Given the description of an element on the screen output the (x, y) to click on. 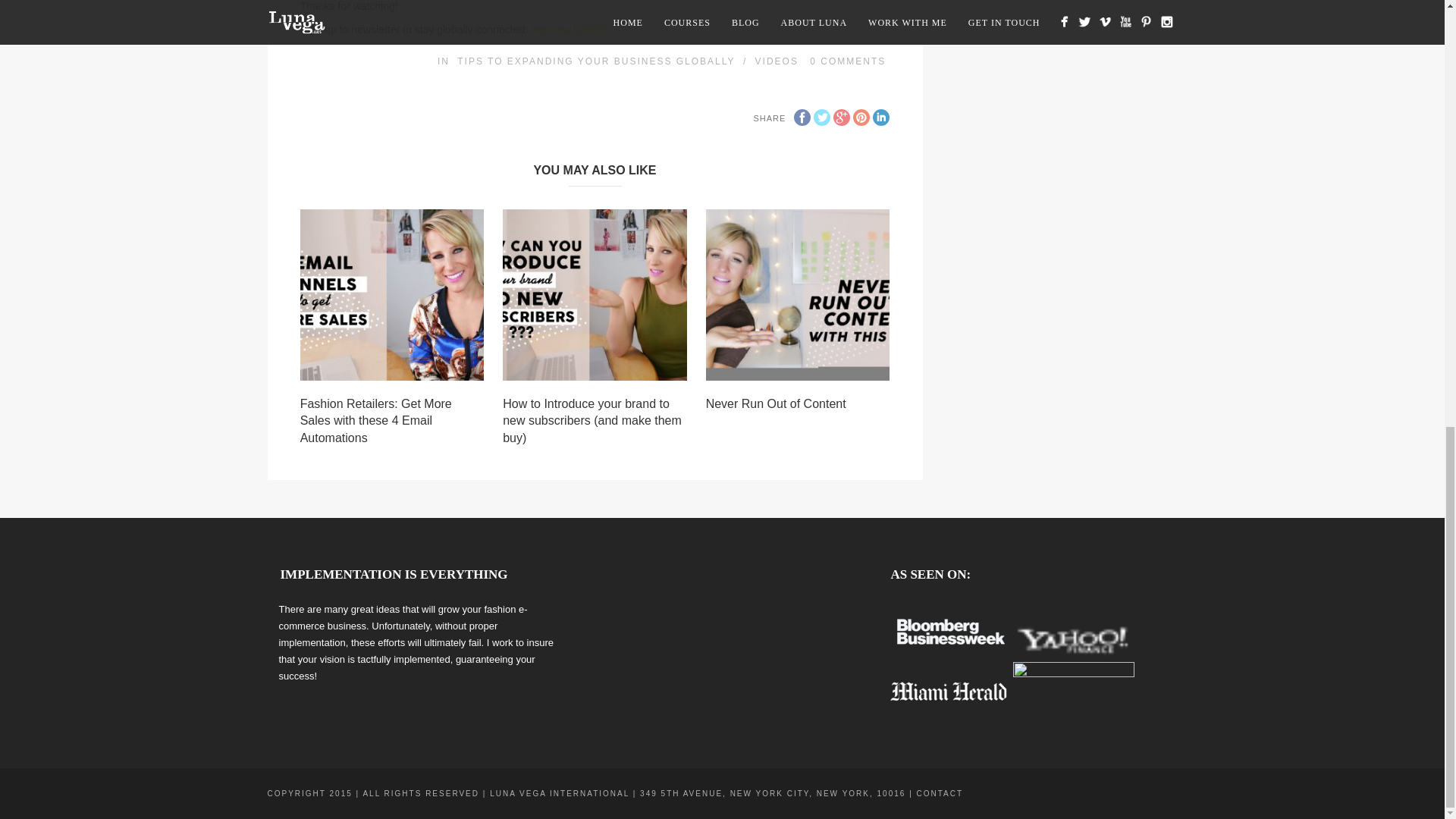
VIDEOS (776, 61)
Facebook (801, 117)
Never Run Out of Content (775, 403)
0 COMMENTS (847, 61)
LinkedIn (880, 117)
TIPS TO EXPANDING YOUR BUSINESS GLOBALLY (596, 61)
Twitter (821, 117)
Pinterest (861, 117)
